Given the description of an element on the screen output the (x, y) to click on. 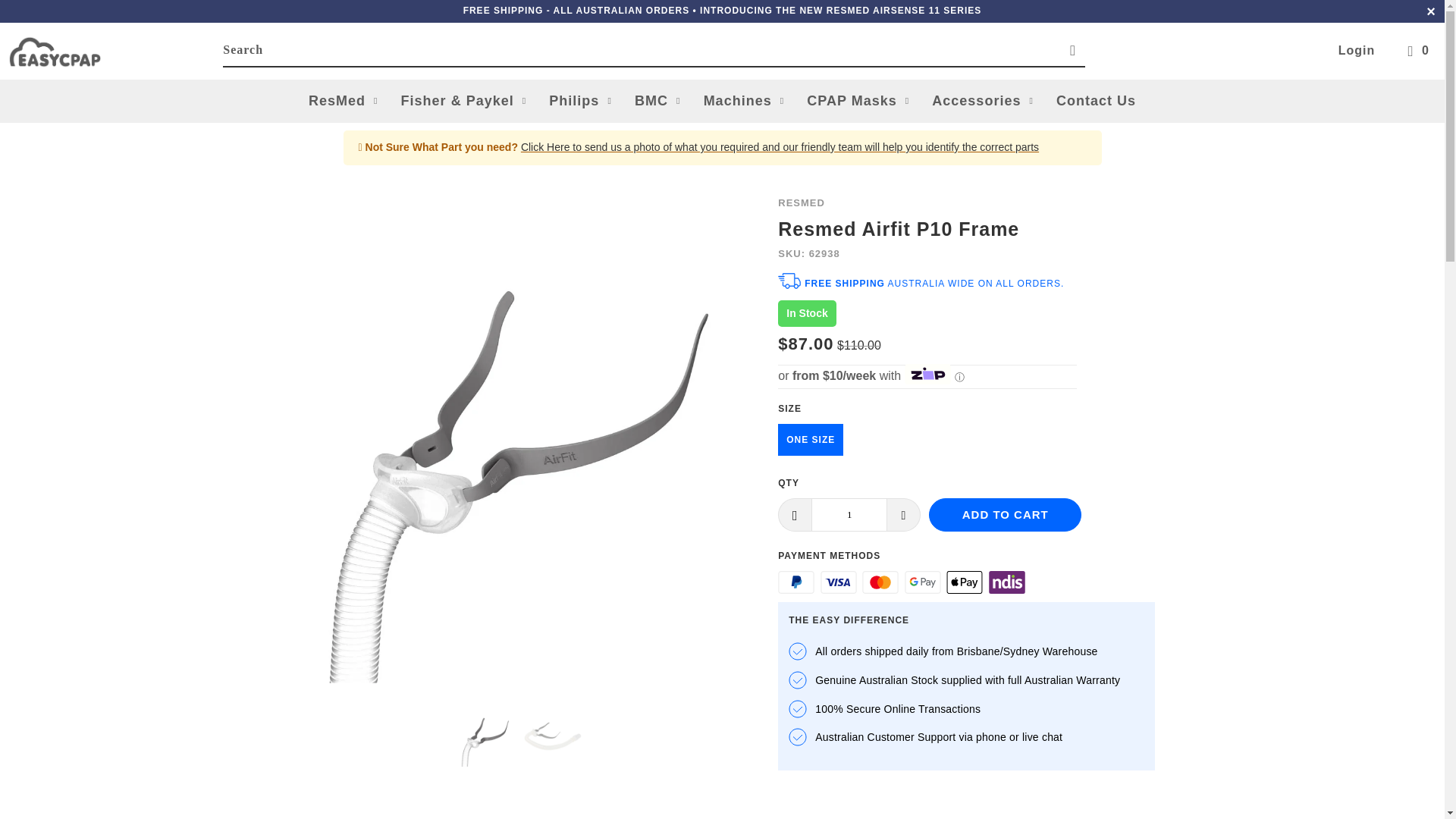
1 (848, 514)
VISA (839, 581)
APPLE PAY (964, 581)
MASTERCARD (879, 581)
Easy CPAP (114, 51)
My Account  (1356, 50)
GOOGLE PAY (922, 581)
ResMed (801, 202)
PAYPAL (795, 581)
Shipping (576, 9)
